Given the description of an element on the screen output the (x, y) to click on. 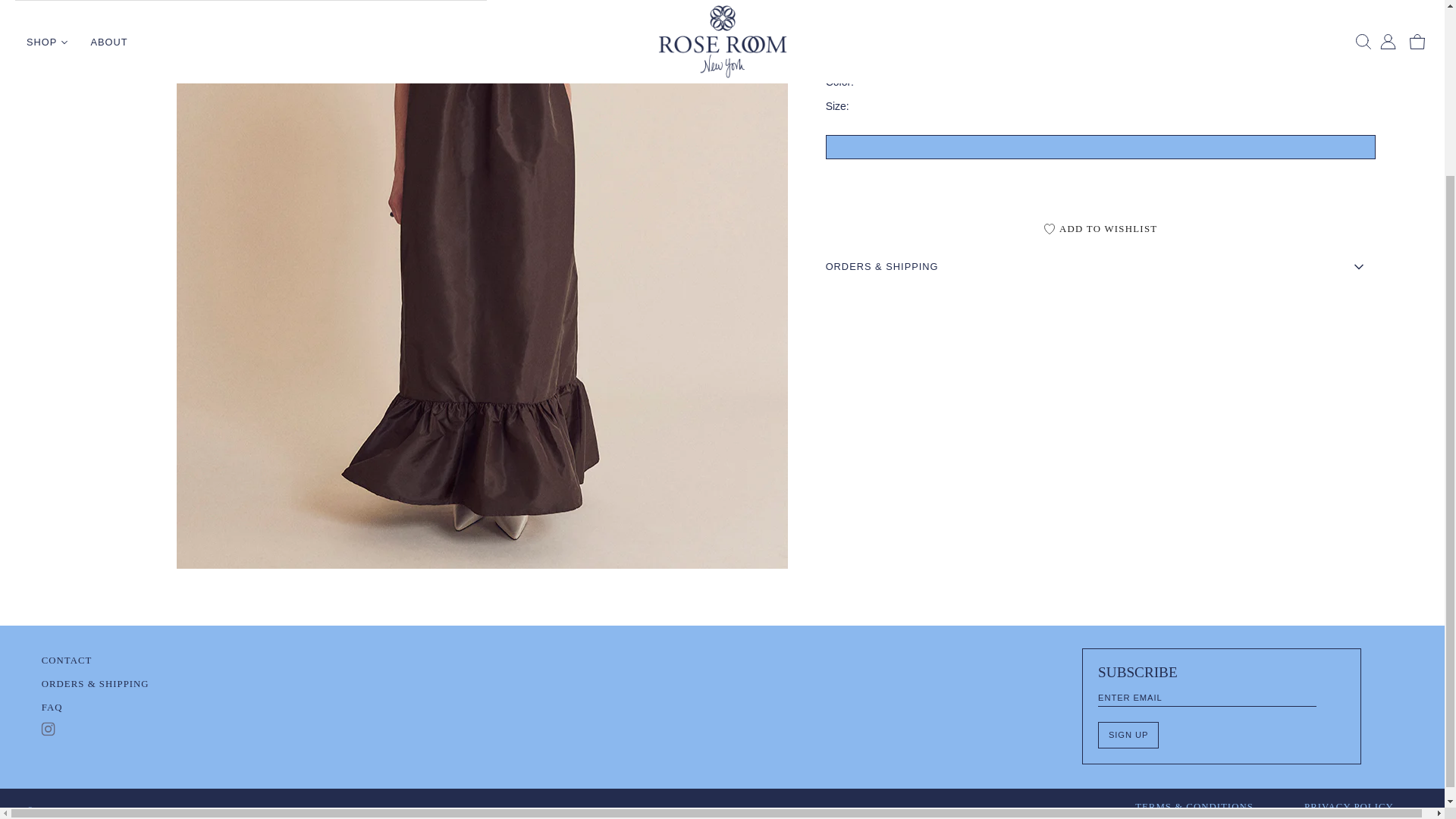
Add to Wishlist (1100, 229)
Sign up (1127, 734)
